Given the description of an element on the screen output the (x, y) to click on. 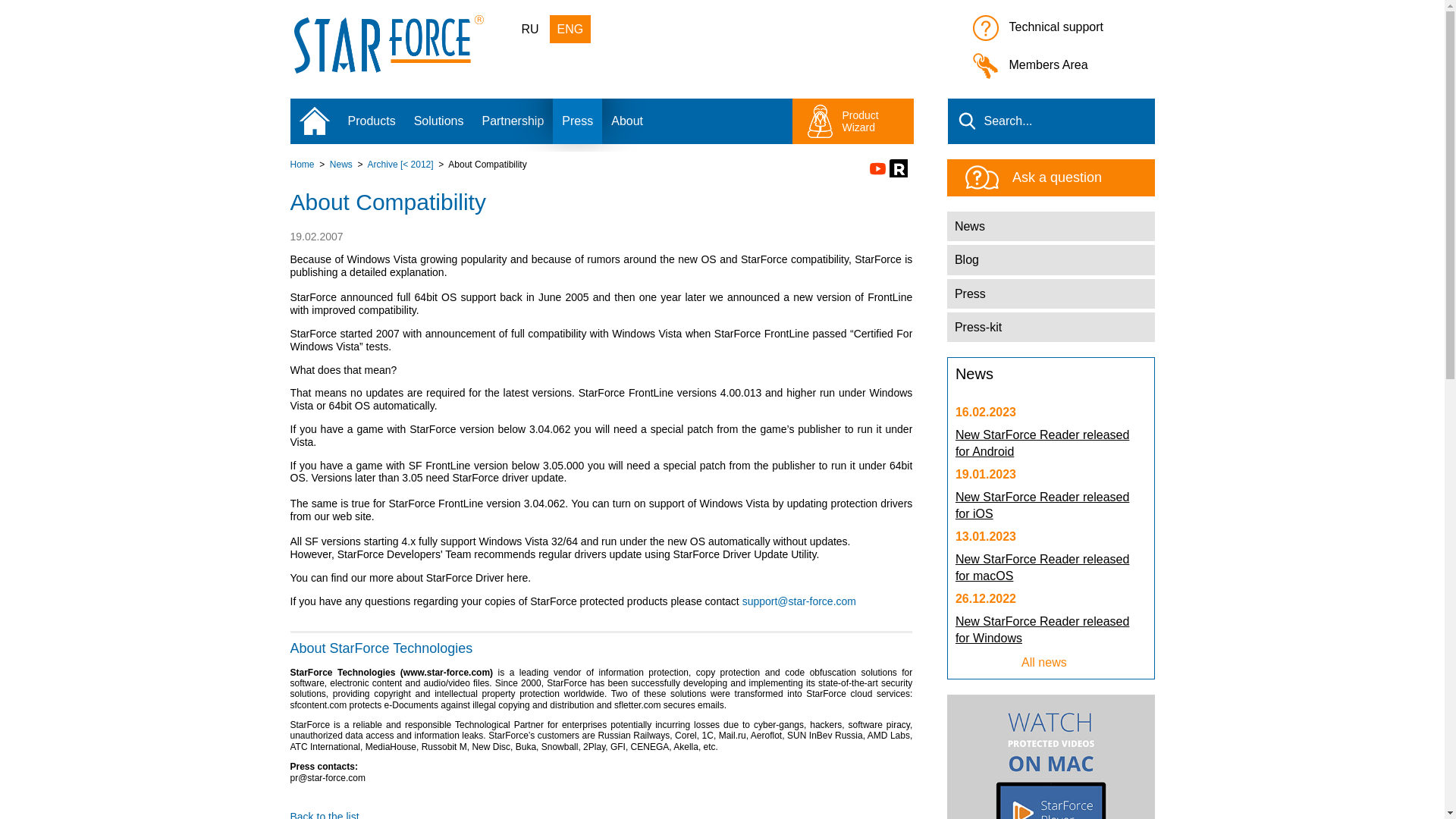
Home (301, 163)
Products (370, 121)
Technical support (1063, 30)
New StarForce Reader released for Android (1042, 442)
Search... (1050, 121)
Members Area (1063, 68)
Search... (1050, 121)
Solutions (438, 121)
ENG (569, 29)
New StarForce Reader released for macOS (1042, 567)
News (341, 163)
Go to YouTube (876, 167)
RU (530, 29)
Ask a question (1090, 177)
New StarForce Reader released for iOS (1042, 505)
